Given the description of an element on the screen output the (x, y) to click on. 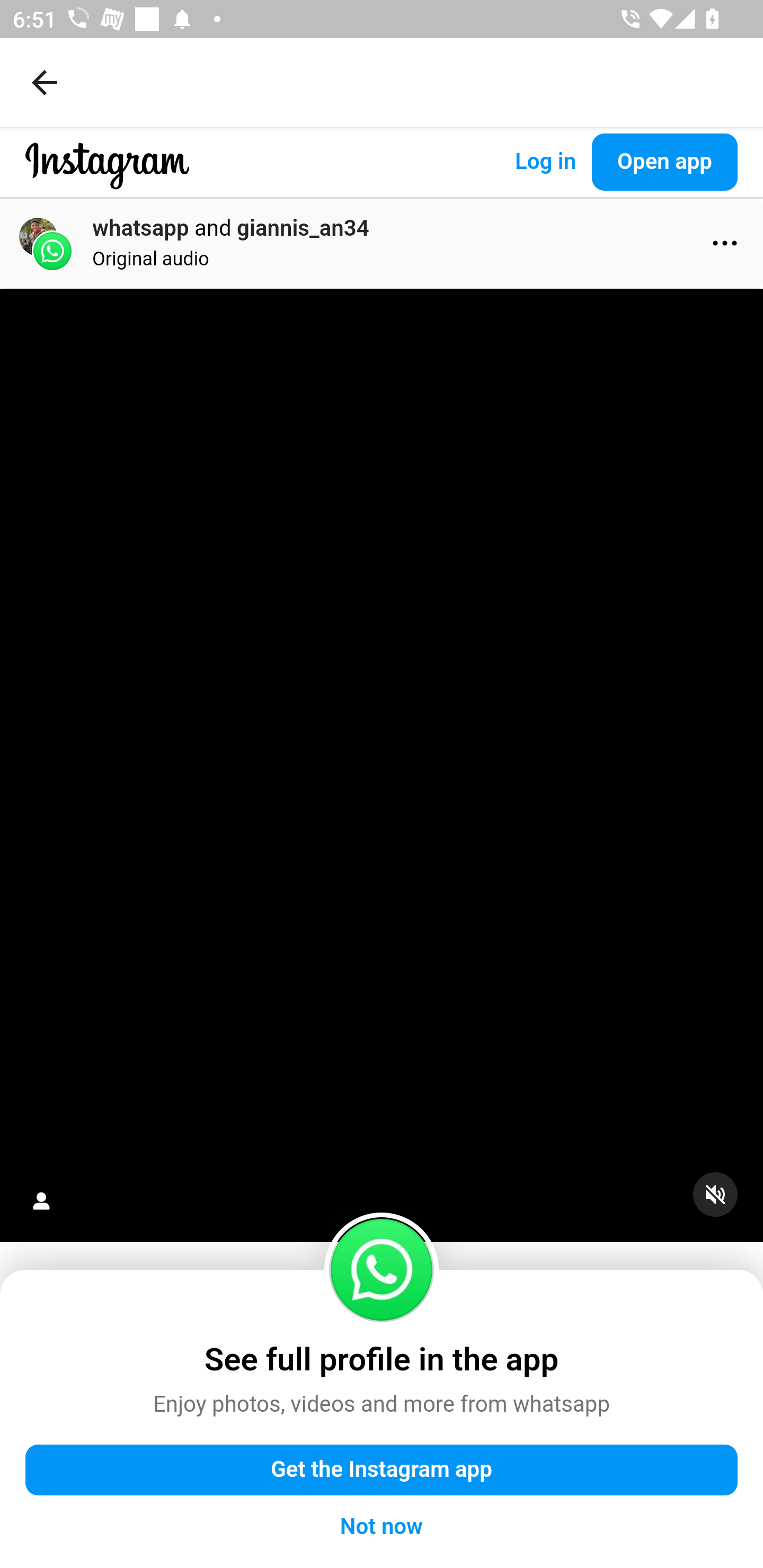
Navigate up (44, 82)
Log in (544, 162)
Open app (664, 162)
Instagram Instagram Instagram Instagram (107, 179)
More options (724, 242)
whatsapp's profile picture (52, 250)
Original audio (150, 258)
Toggle audio (727, 1207)
Tags (41, 1200)
whatsapp's profile picture (381, 1269)
Get the Instagram app (381, 1469)
Not now (381, 1527)
